Given the description of an element on the screen output the (x, y) to click on. 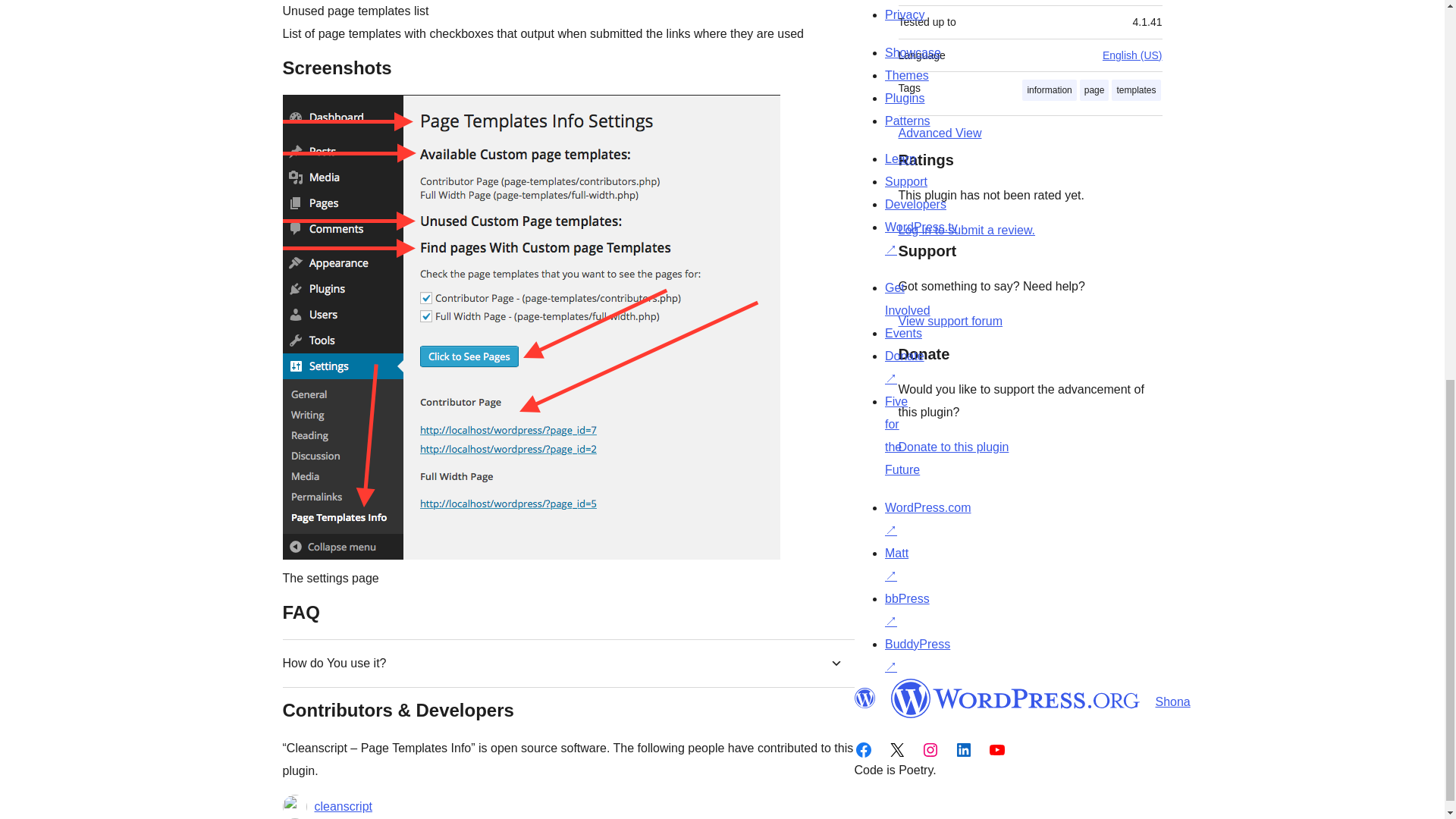
WordPress.org (1014, 698)
WordPress.org (864, 698)
page (1094, 90)
Log in to WordPress.org (966, 229)
information (1048, 90)
cleanscript (342, 805)
